Given the description of an element on the screen output the (x, y) to click on. 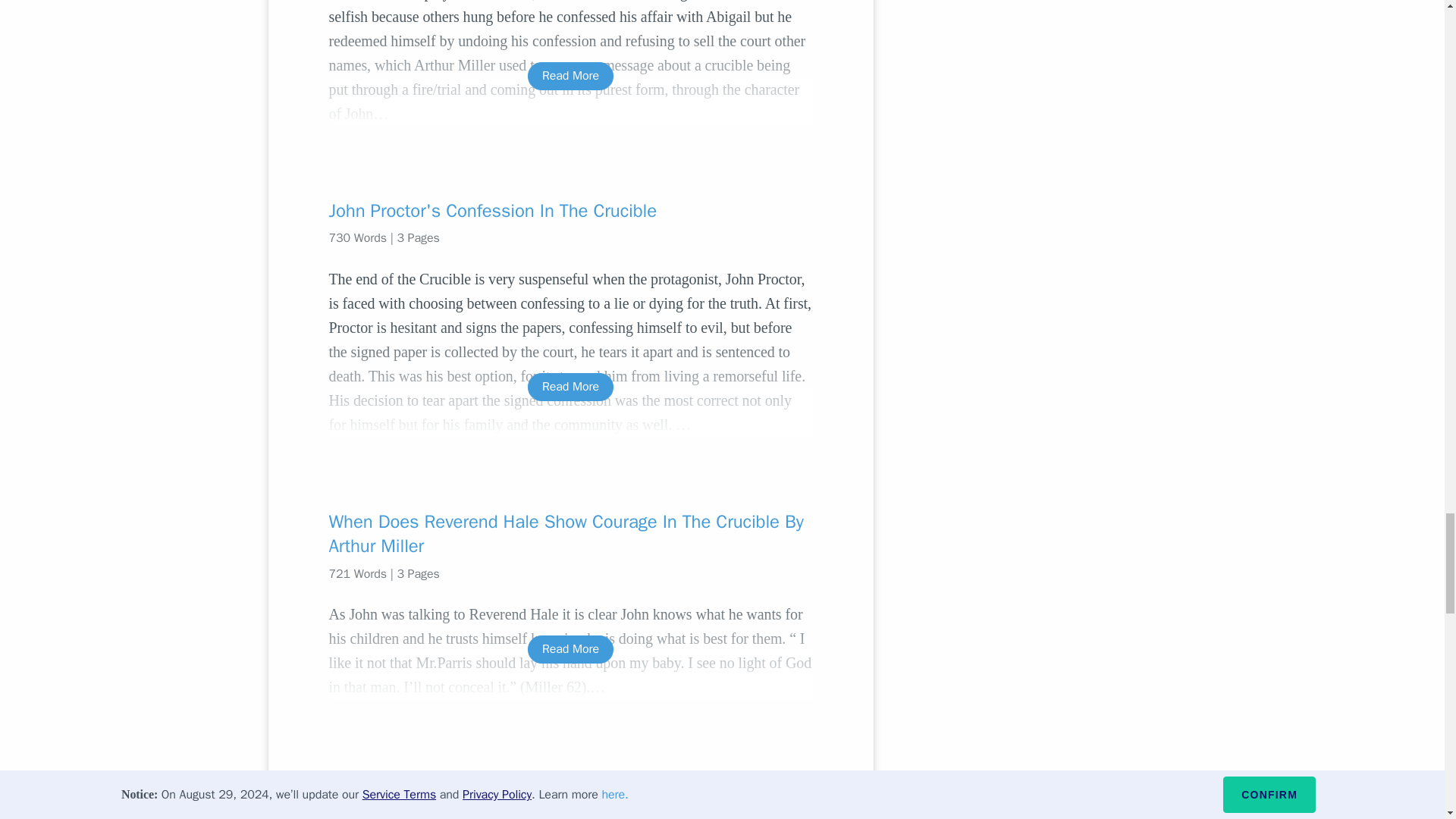
John Proctor's Confession In The Crucible (570, 210)
Read More (569, 76)
Read More (569, 387)
